Given the description of an element on the screen output the (x, y) to click on. 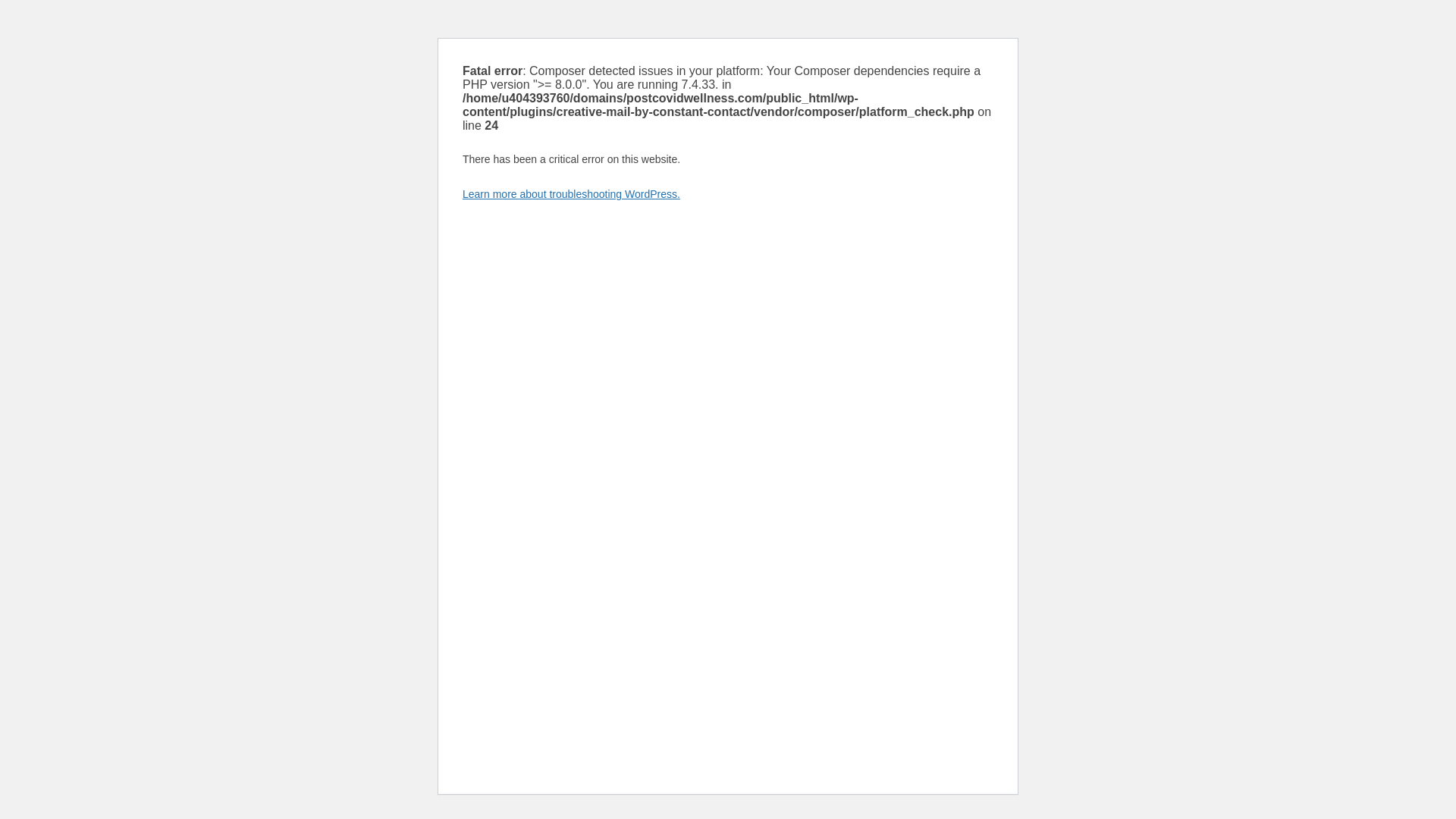
Learn more about troubleshooting WordPress. (571, 193)
